Given the description of an element on the screen output the (x, y) to click on. 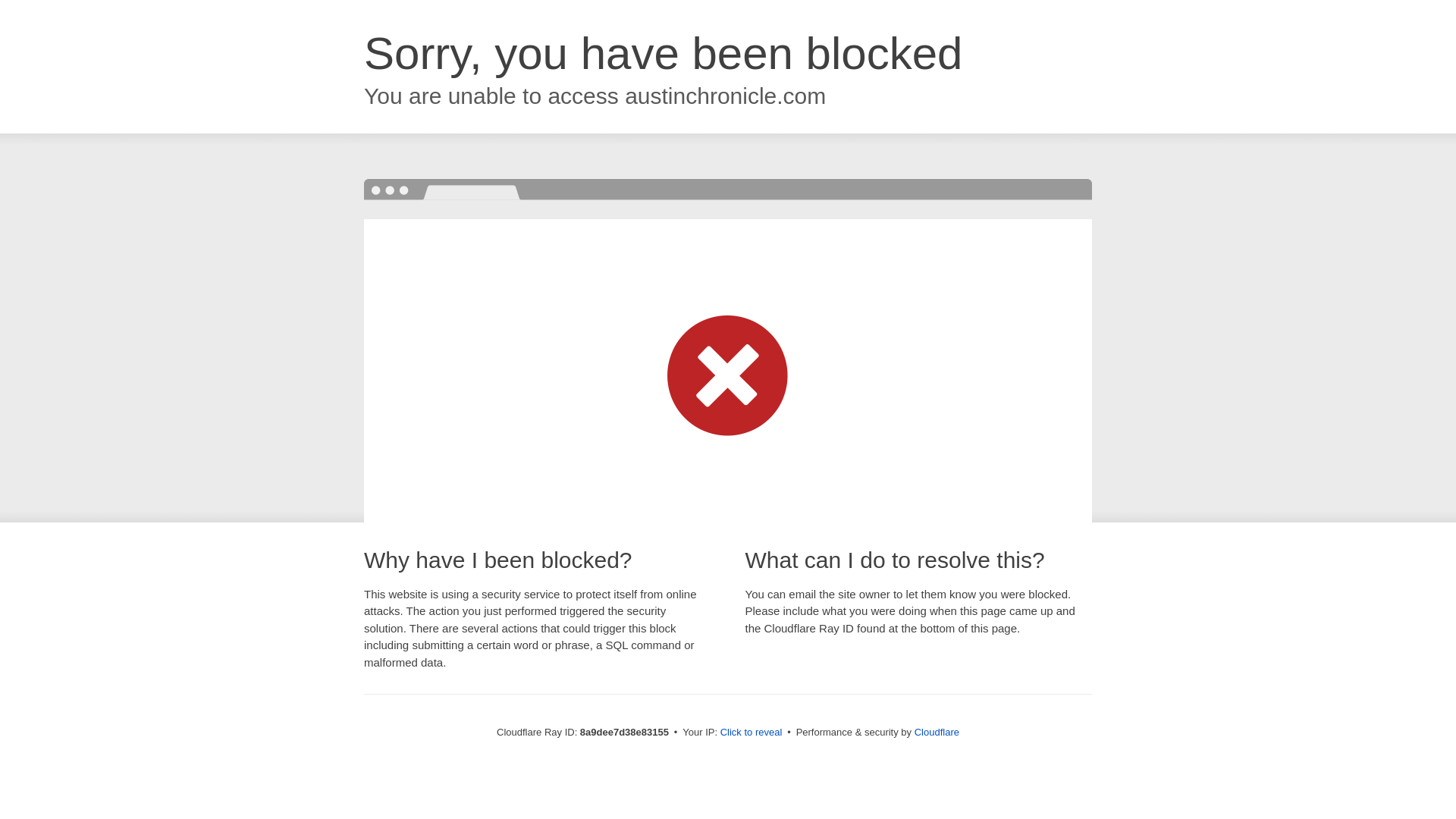
Cloudflare (936, 731)
Click to reveal (751, 732)
